Given the description of an element on the screen output the (x, y) to click on. 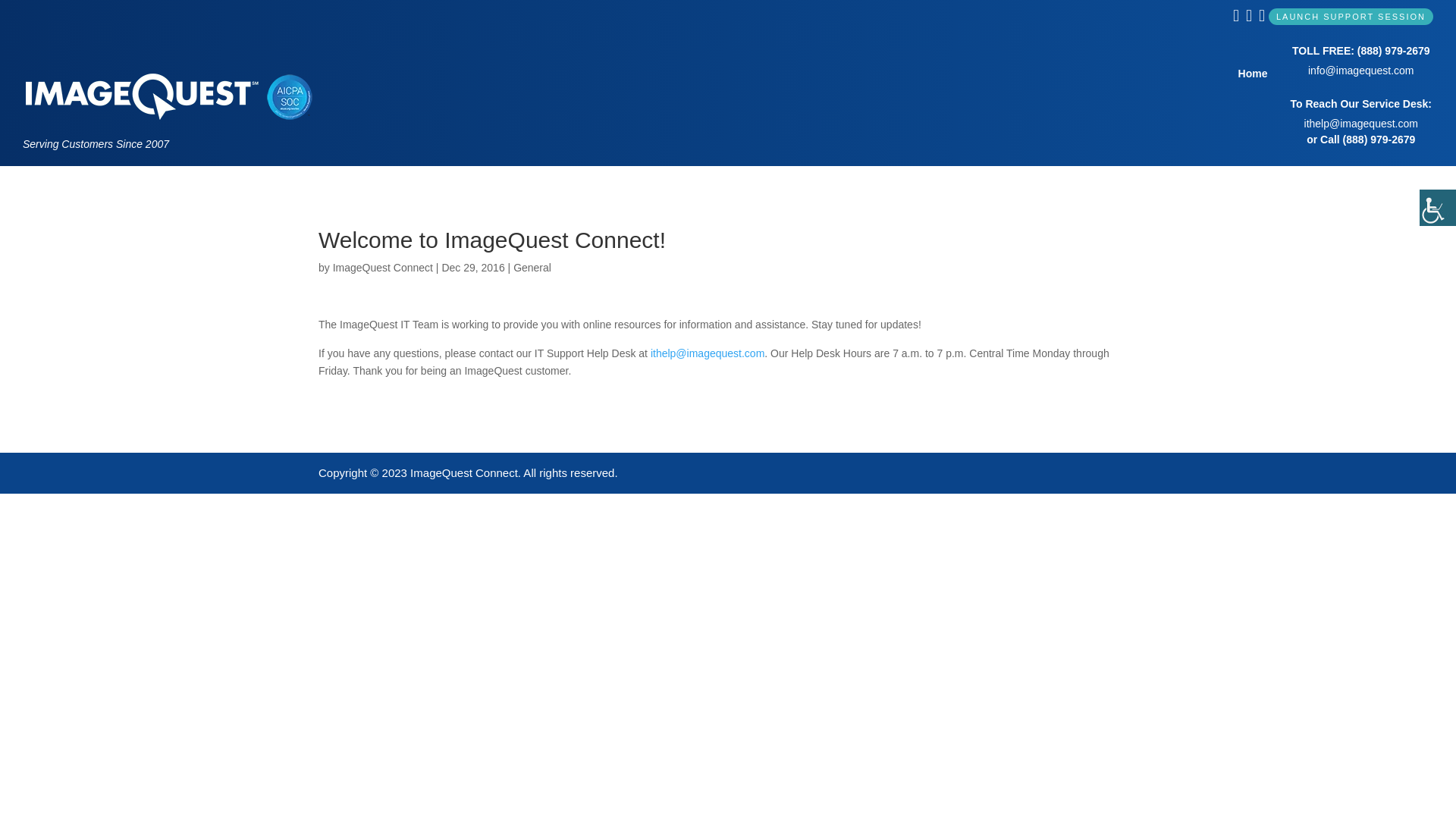
LAUNCH SUPPORT SESSION (1350, 16)
General (532, 267)
Home (1253, 93)
ImageQuest Connect (382, 267)
Posts by ImageQuest Connect (382, 267)
